Given the description of an element on the screen output the (x, y) to click on. 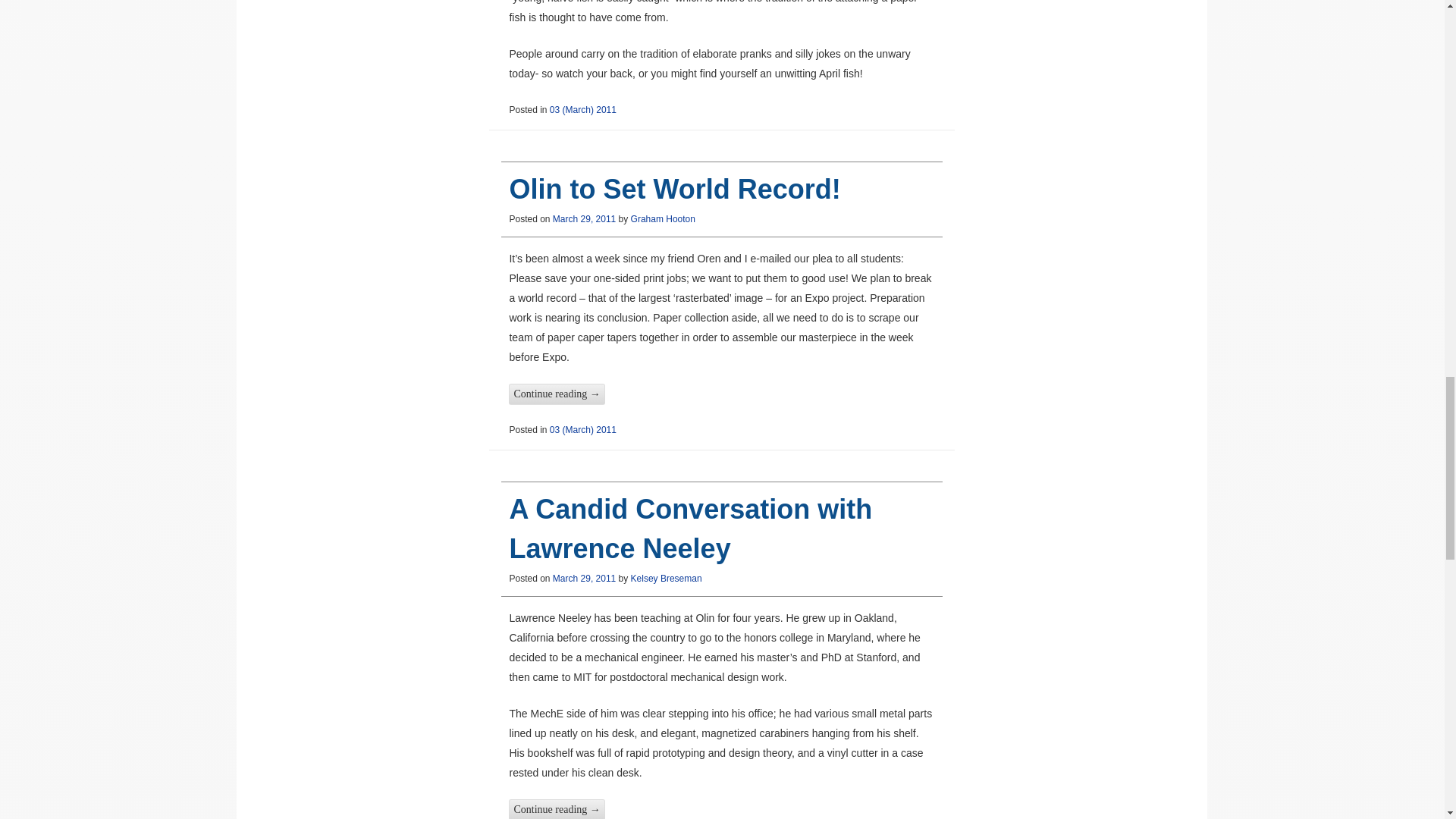
March 29, 2011 (584, 578)
A Candid Conversation with Lawrence Neeley (690, 528)
22:26 (584, 578)
March 29, 2011 (584, 218)
Kelsey Breseman (665, 578)
View all posts by Kelsey Breseman (665, 578)
Olin to Set World Record! (674, 188)
22:29 (584, 218)
Graham Hooton (662, 218)
View all posts by Graham Hooton (662, 218)
